Given the description of an element on the screen output the (x, y) to click on. 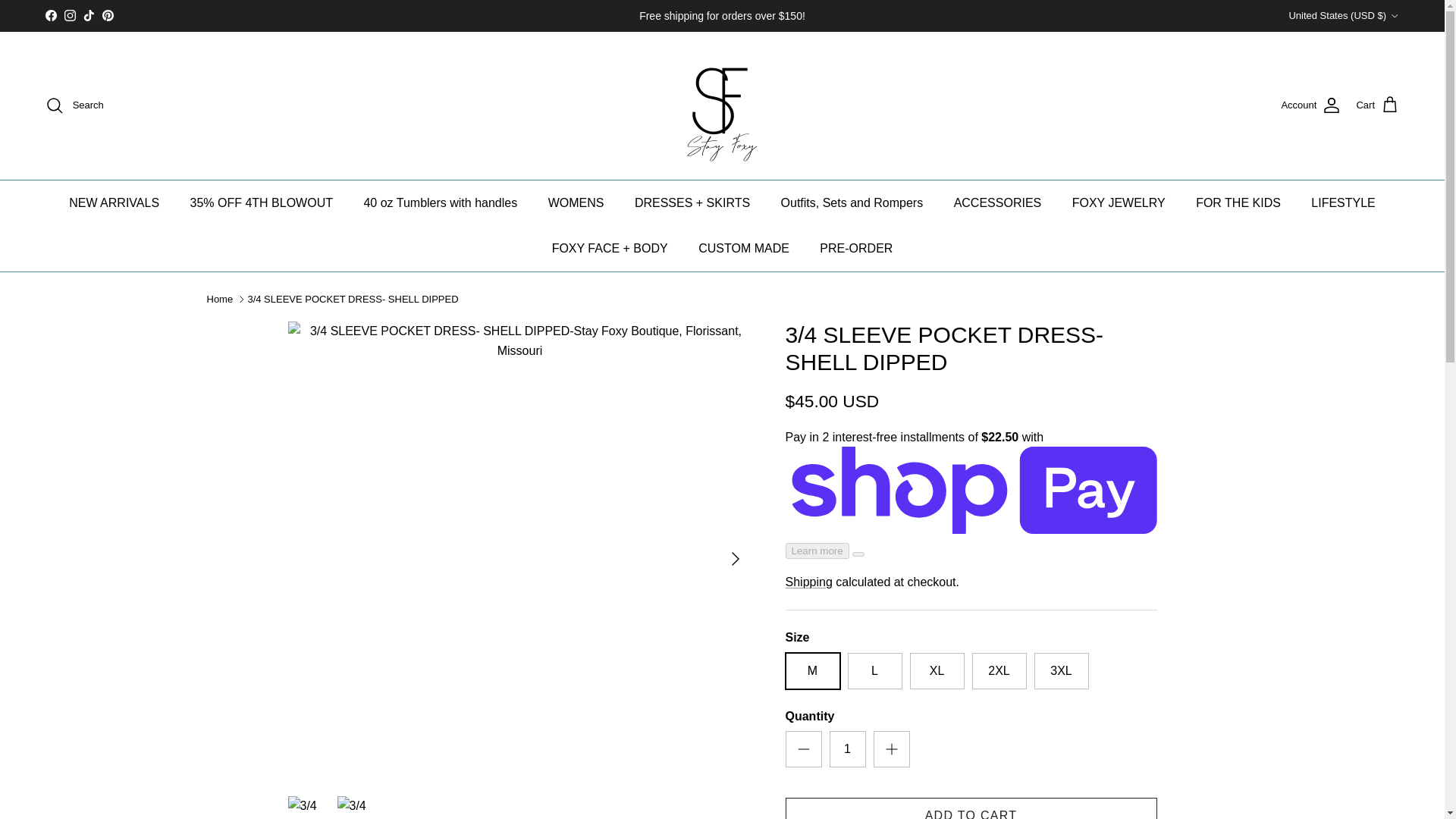
Pinterest (107, 15)
Search (74, 105)
Instagram (69, 15)
NEW ARRIVALS (114, 203)
Stay Foxy Boutique (721, 105)
1 (847, 749)
Account (1310, 105)
Stay Foxy Boutique on TikTok (88, 15)
Stay Foxy Boutique on Pinterest (107, 15)
Stay Foxy Boutique on Instagram (69, 15)
TikTok (88, 15)
Facebook (50, 15)
Cart (1377, 105)
40 oz Tumblers with handles (440, 203)
WOMENS (575, 203)
